Given the description of an element on the screen output the (x, y) to click on. 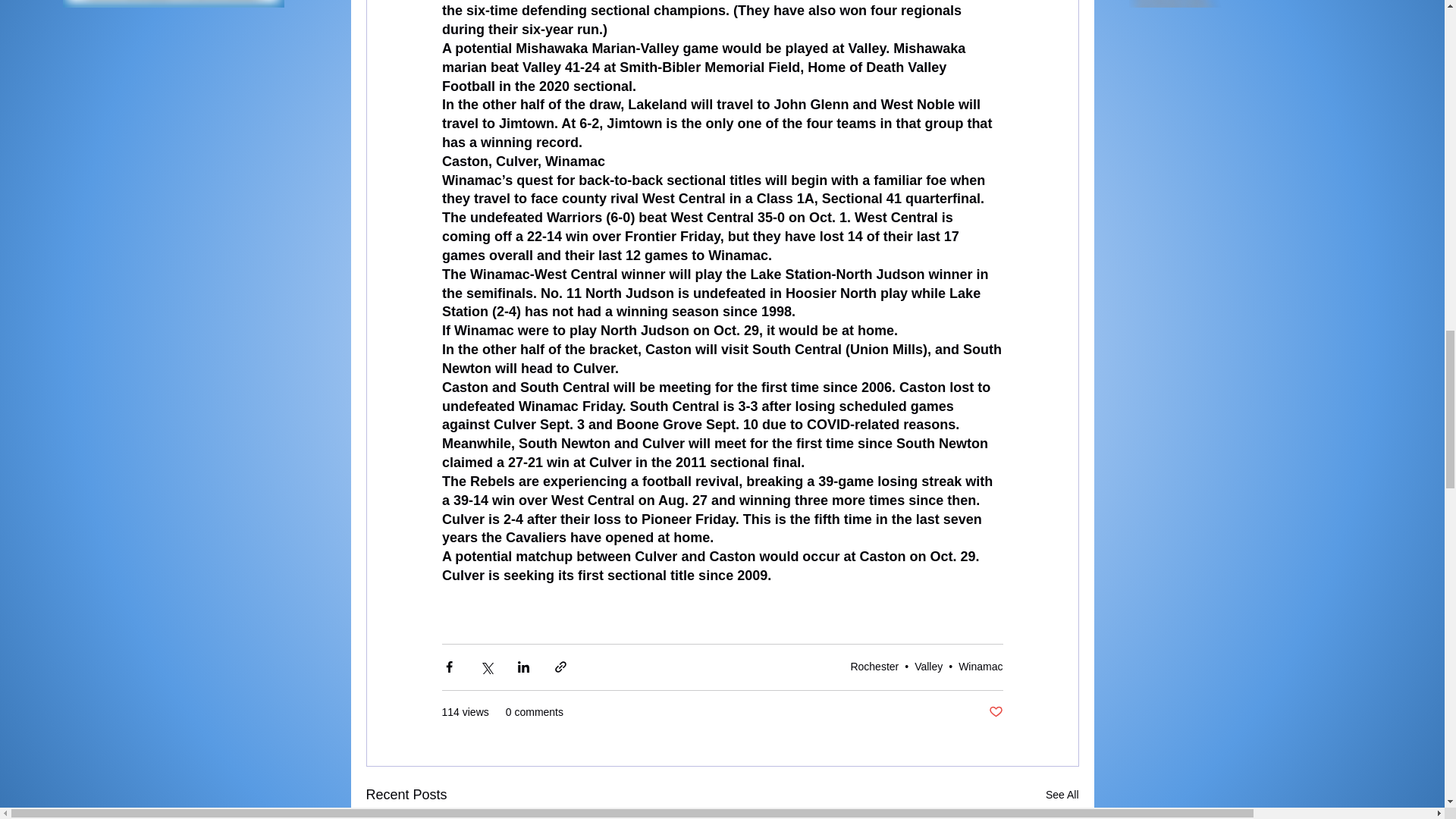
See All (1061, 794)
Winamac (980, 666)
Post not marked as liked (995, 712)
Rochester (874, 666)
Valley (928, 666)
